Given the description of an element on the screen output the (x, y) to click on. 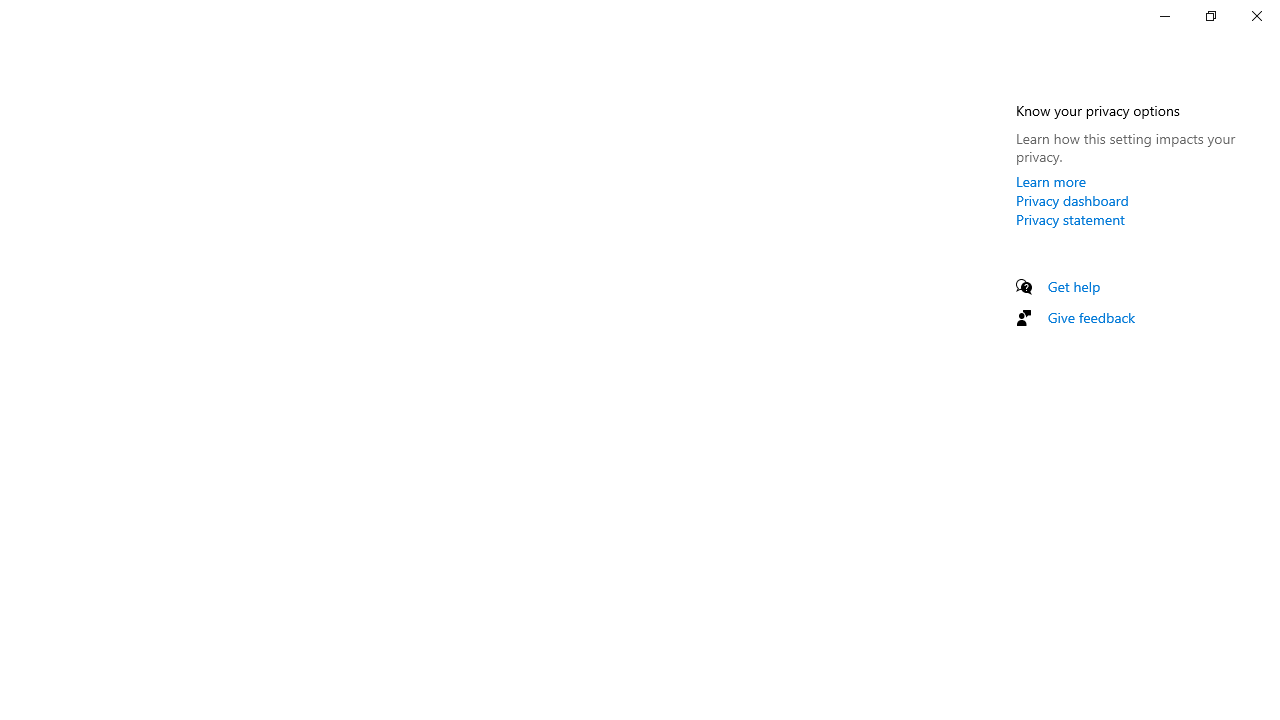
Privacy dashboard (1072, 200)
Privacy statement (1070, 219)
Learn more (1051, 181)
